Given the description of an element on the screen output the (x, y) to click on. 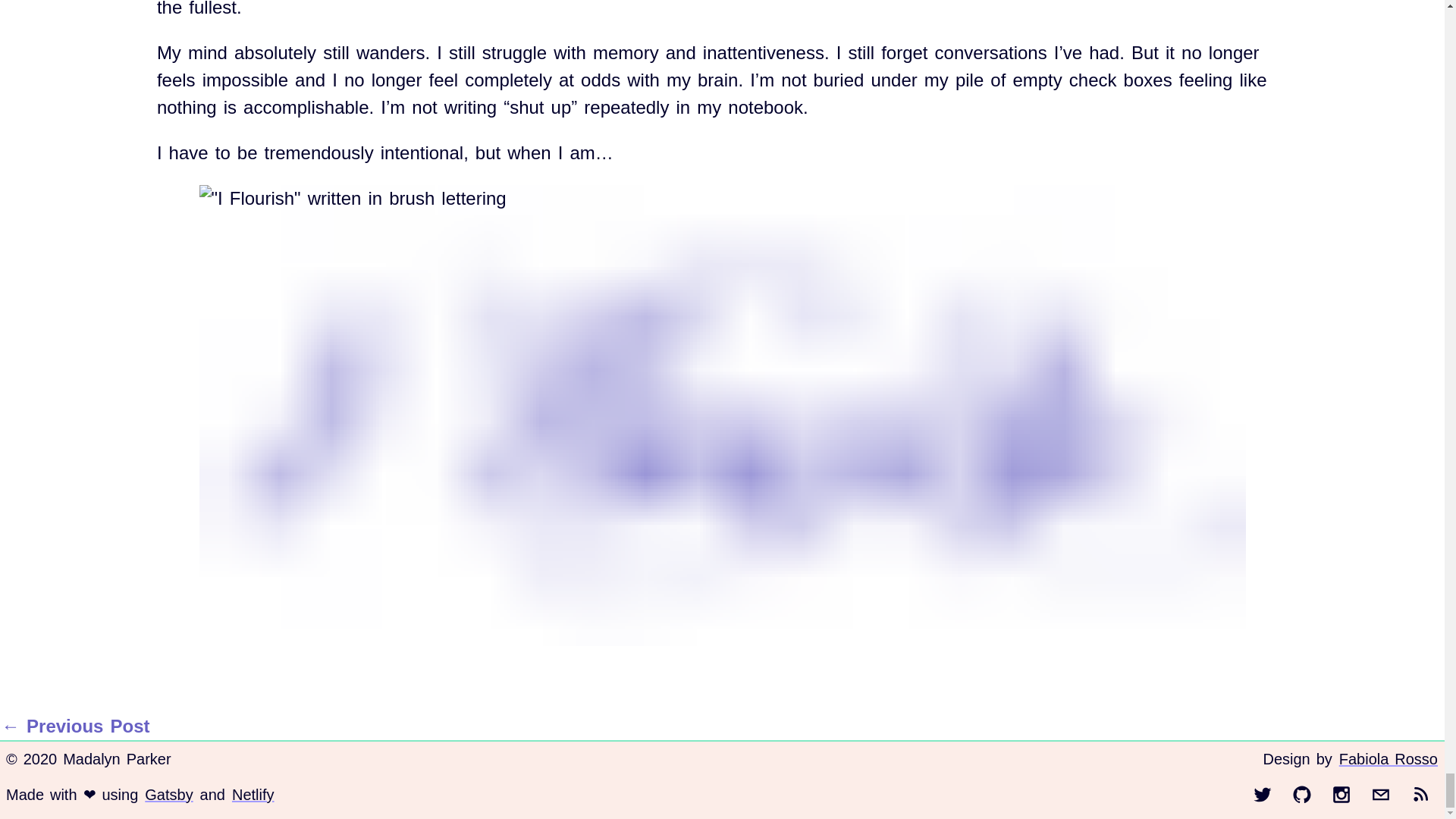
Fabiola Rosso (1388, 759)
Gatsby (168, 794)
Netlify (253, 794)
